Given the description of an element on the screen output the (x, y) to click on. 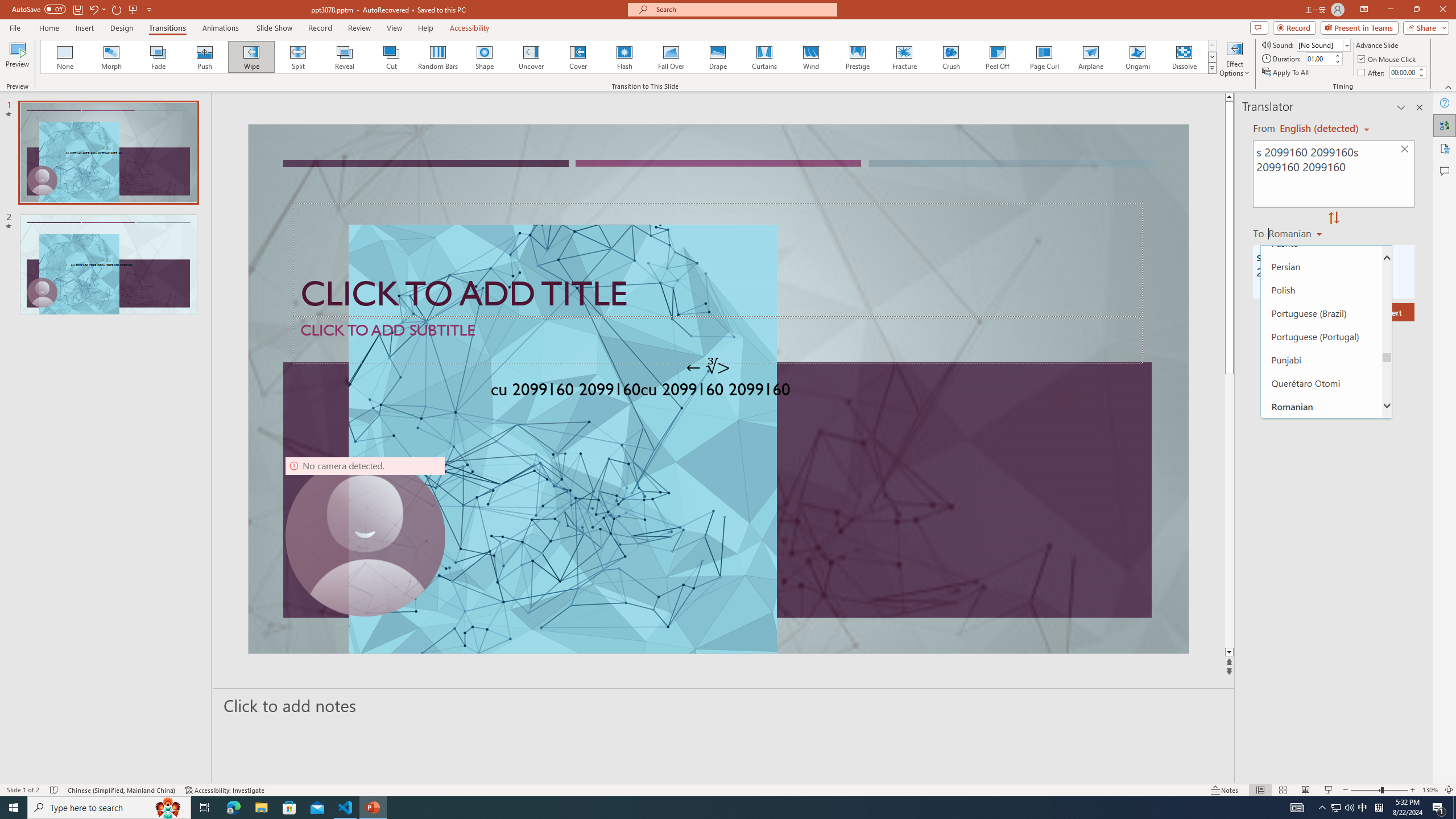
Tab actions (675, 183)
Go Forward (Alt+RightArrow) (627, 150)
Run and Debug (Ctrl+Shift+D) (76, 353)
Explorer actions (222, 183)
